Given the description of an element on the screen output the (x, y) to click on. 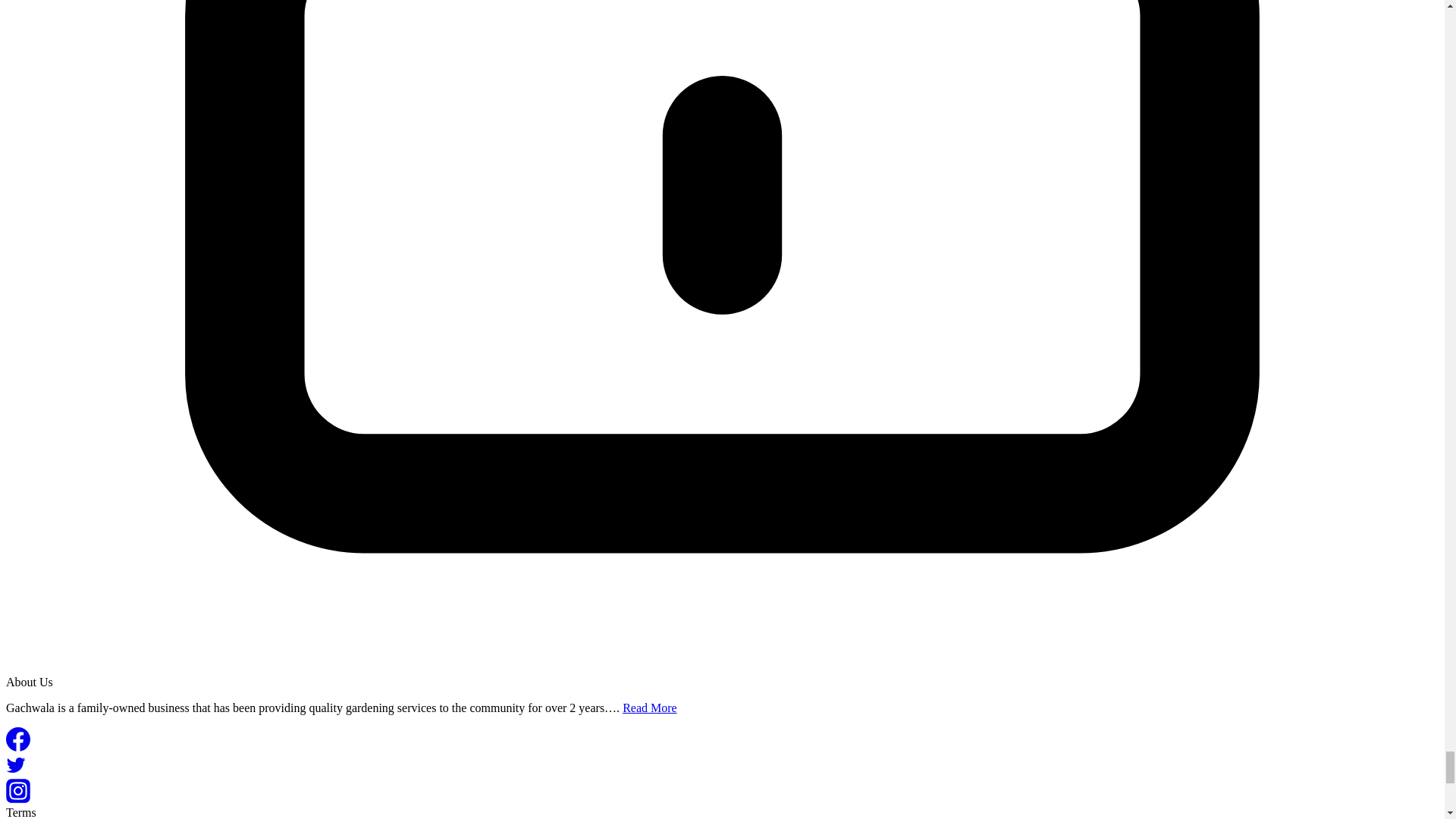
Twitter (15, 764)
Instagram (17, 790)
Facebook (17, 739)
